Given the description of an element on the screen output the (x, y) to click on. 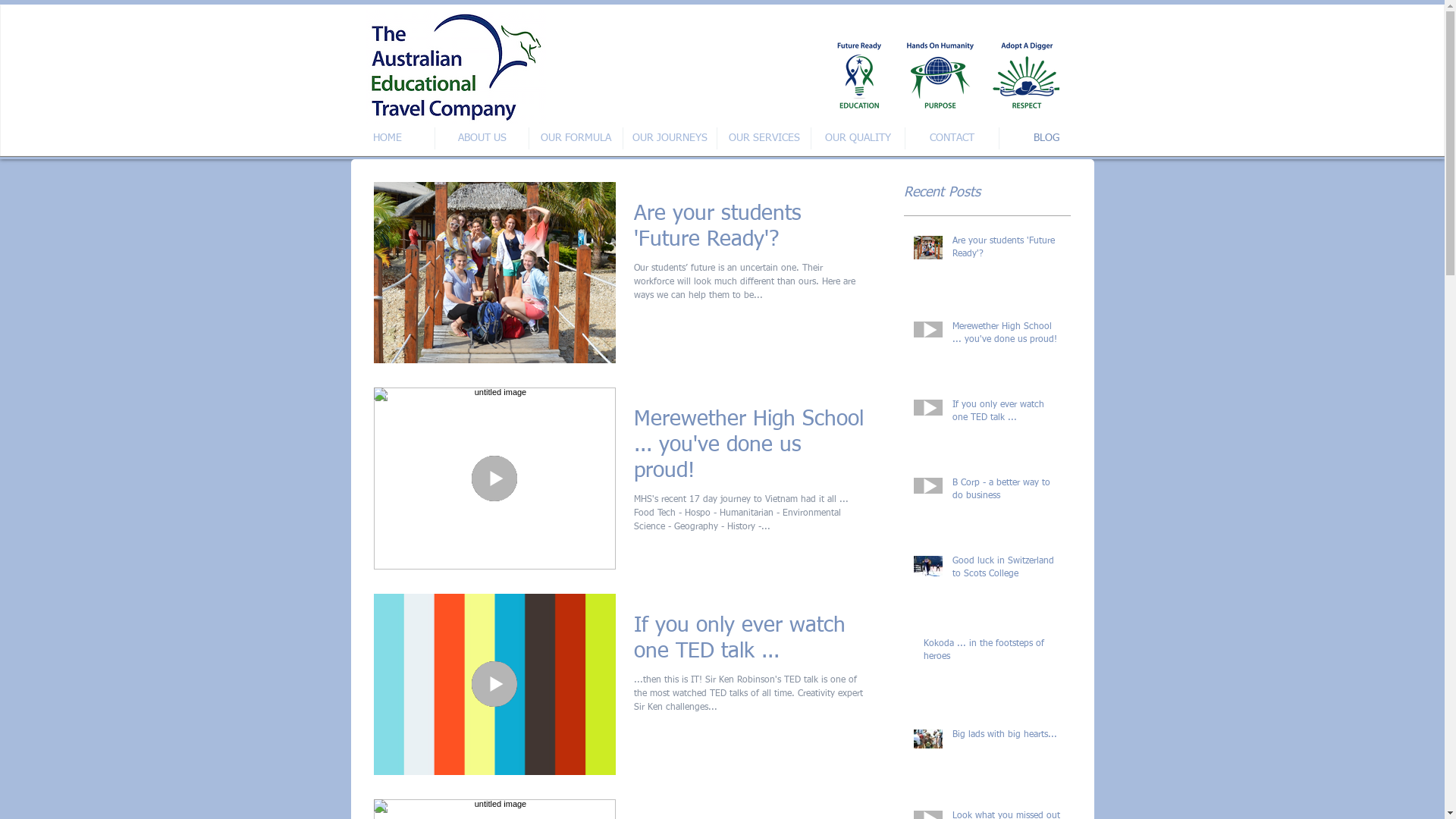
OUR JOURNEYS Element type: text (669, 138)
Good luck in Switzerland to Scots College Element type: text (1006, 570)
HOME Element type: text (387, 138)
Kokoda ... in the footsteps of heroes Element type: text (992, 653)
Screenshot 2016-10-04 19.30.11.png Element type: hover (455, 66)
Merewether High School ... you've done us proud! Element type: text (748, 448)
Merewether High School ... you've done us proud! Element type: text (1006, 336)
OUR QUALITY Element type: text (857, 138)
BLOG Element type: text (1045, 138)
CONTACT Element type: text (951, 138)
OUR FORMULA Element type: text (575, 138)
All logos together 2nd version (transparent background).png Element type: hover (941, 71)
ABOUT US Element type: text (481, 138)
OUR SERVICES Element type: text (763, 138)
B Corp - a better way to do business Element type: text (1006, 492)
Are your students 'Future Ready'? Element type: text (748, 230)
If you only ever watch one TED talk ... Element type: text (1006, 414)
Big lads with big hearts... Element type: text (1006, 737)
If you only ever watch one TED talk ... Element type: text (748, 641)
Are your students 'Future Ready'? Element type: text (1006, 250)
